Given the description of an element on the screen output the (x, y) to click on. 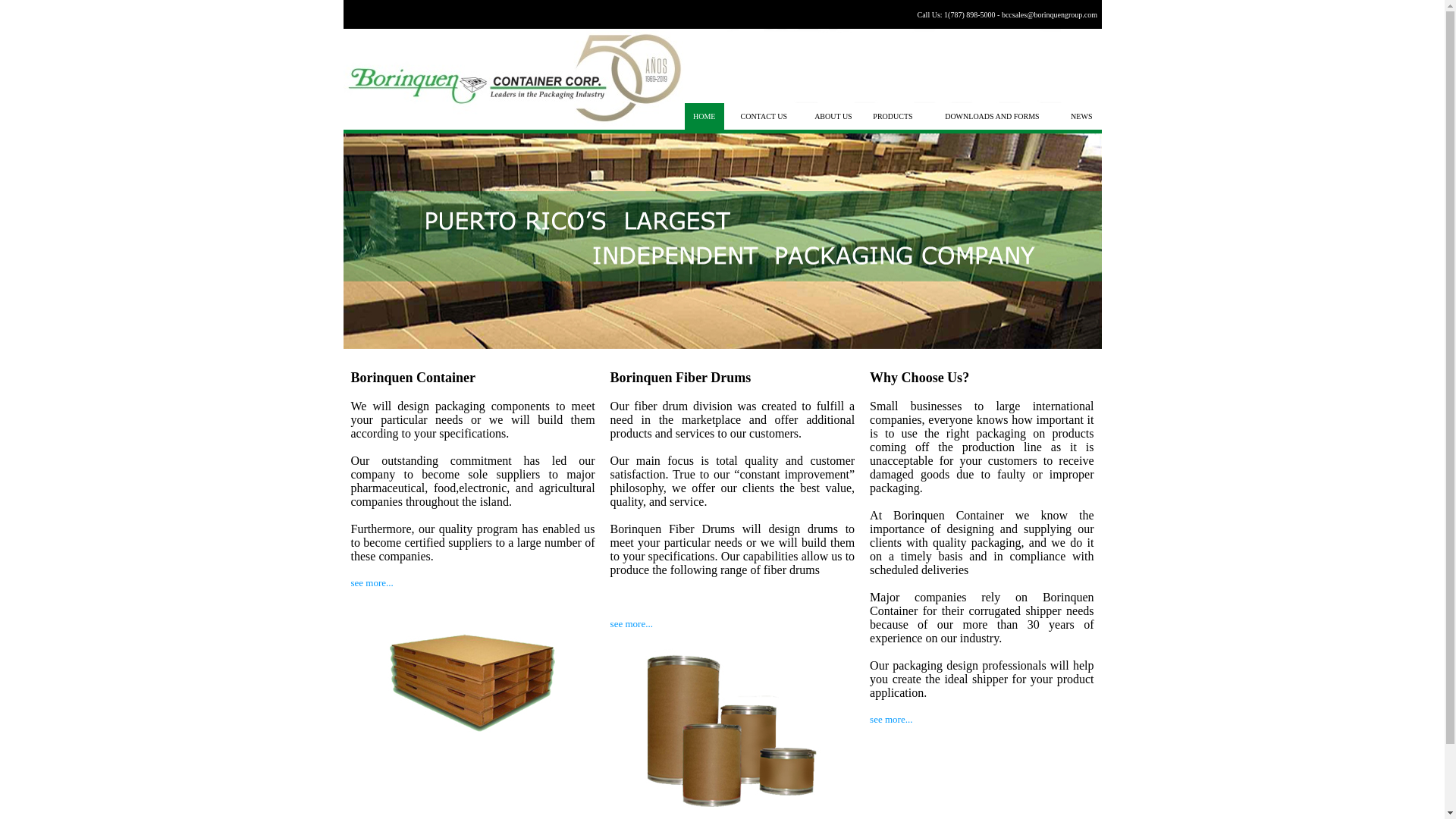
HOME (703, 116)
see more... (890, 718)
CONTACT US (763, 116)
ABOUT US (832, 116)
Borinquen Container (413, 377)
see more... (371, 582)
Why Choose Us? (919, 377)
PRODUCTS (892, 116)
DOWNLOADS AND FORMS (991, 116)
Borinquen Fiber Drums (680, 377)
NEWS (1081, 116)
see more... (631, 623)
